Given the description of an element on the screen output the (x, y) to click on. 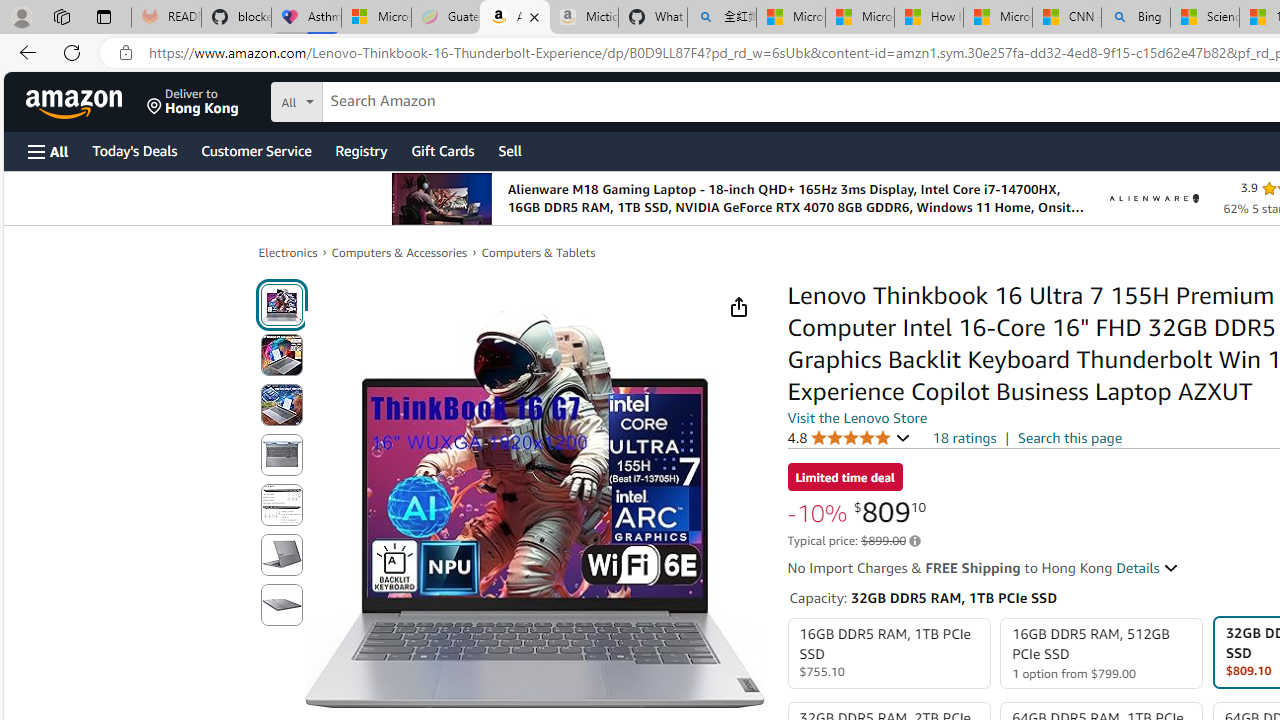
Microsoft-Report a Concern to Bing (375, 17)
Details  (1148, 568)
16GB DDR5 RAM, 1TB PCIe SSD $755.10 (888, 653)
